Given the description of an element on the screen output the (x, y) to click on. 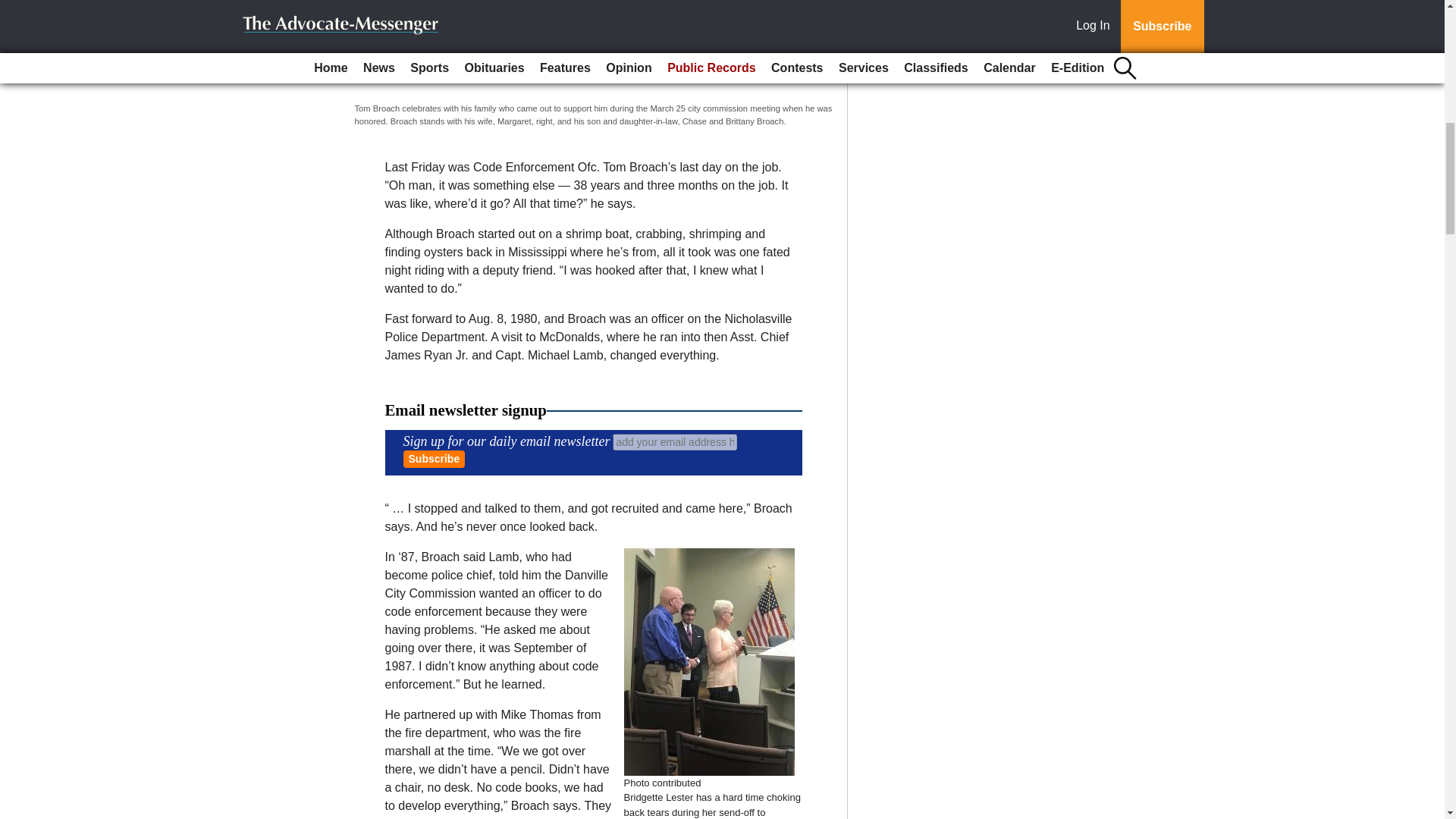
Subscribe (434, 458)
Subscribe (434, 458)
